Given the description of an element on the screen output the (x, y) to click on. 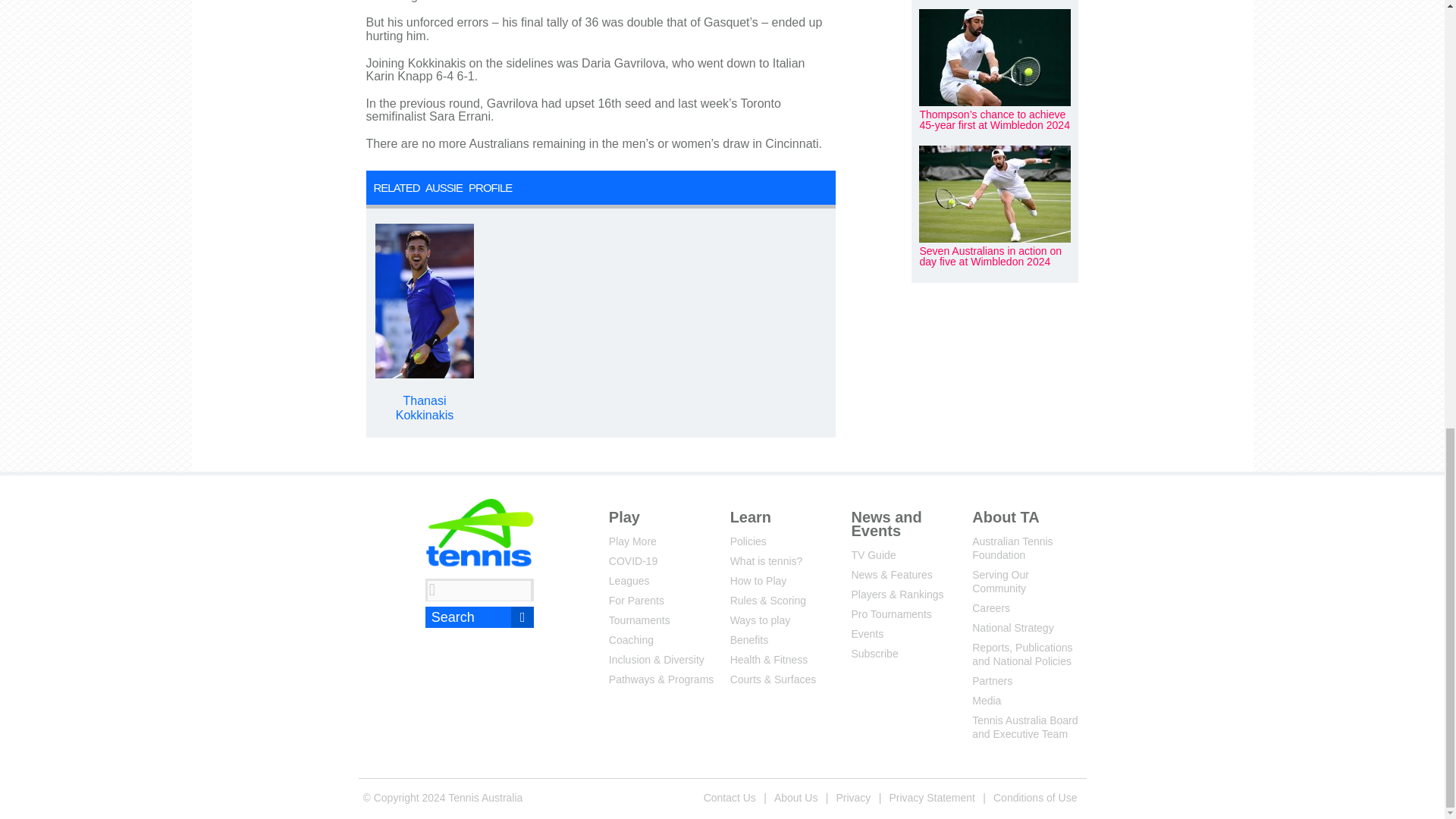
Privacy Statement (931, 797)
Privacy (853, 797)
Contact Us (729, 797)
Conditions Of Use (1035, 797)
About Us (796, 797)
